Given the description of an element on the screen output the (x, y) to click on. 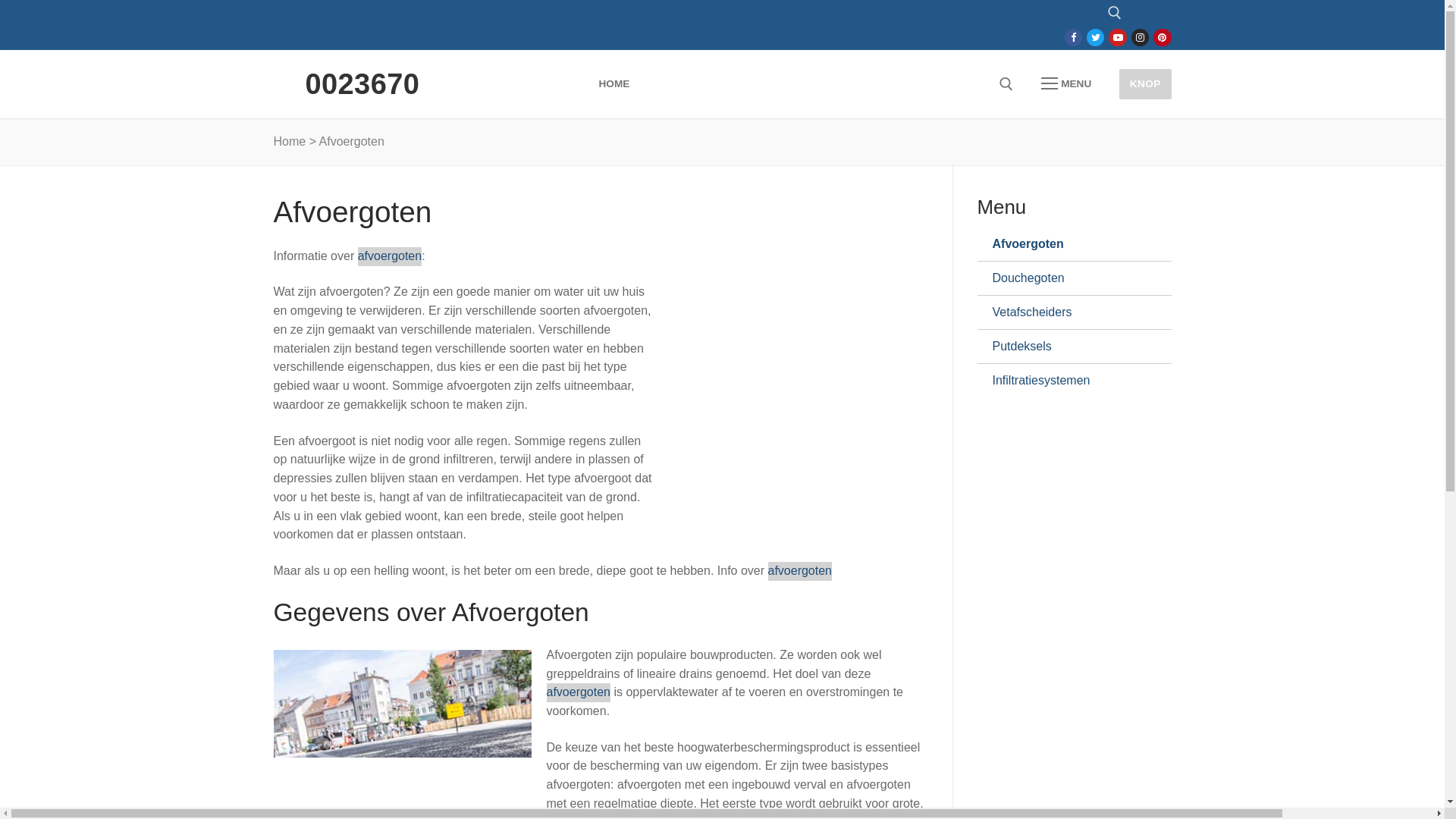
0023670 Element type: text (361, 83)
KNOP Element type: text (1144, 83)
MENU Element type: text (1066, 84)
HOME Element type: text (613, 83)
afvoergoten Element type: text (578, 692)
Facebook Element type: hover (1073, 37)
Putdeksels Element type: text (1067, 346)
Vetafscheiders Element type: text (1067, 312)
Twitter Element type: hover (1095, 37)
afvoergoten Element type: text (799, 570)
Douchegoten Element type: text (1067, 277)
Youtube Element type: hover (1118, 37)
Afvoergoten Element type: text (1067, 243)
afvoergoten Element type: text (389, 256)
Instagram Element type: hover (1140, 37)
Pinterest Element type: hover (1162, 37)
Infiltratiesystemen Element type: text (1067, 380)
